Given the description of an element on the screen output the (x, y) to click on. 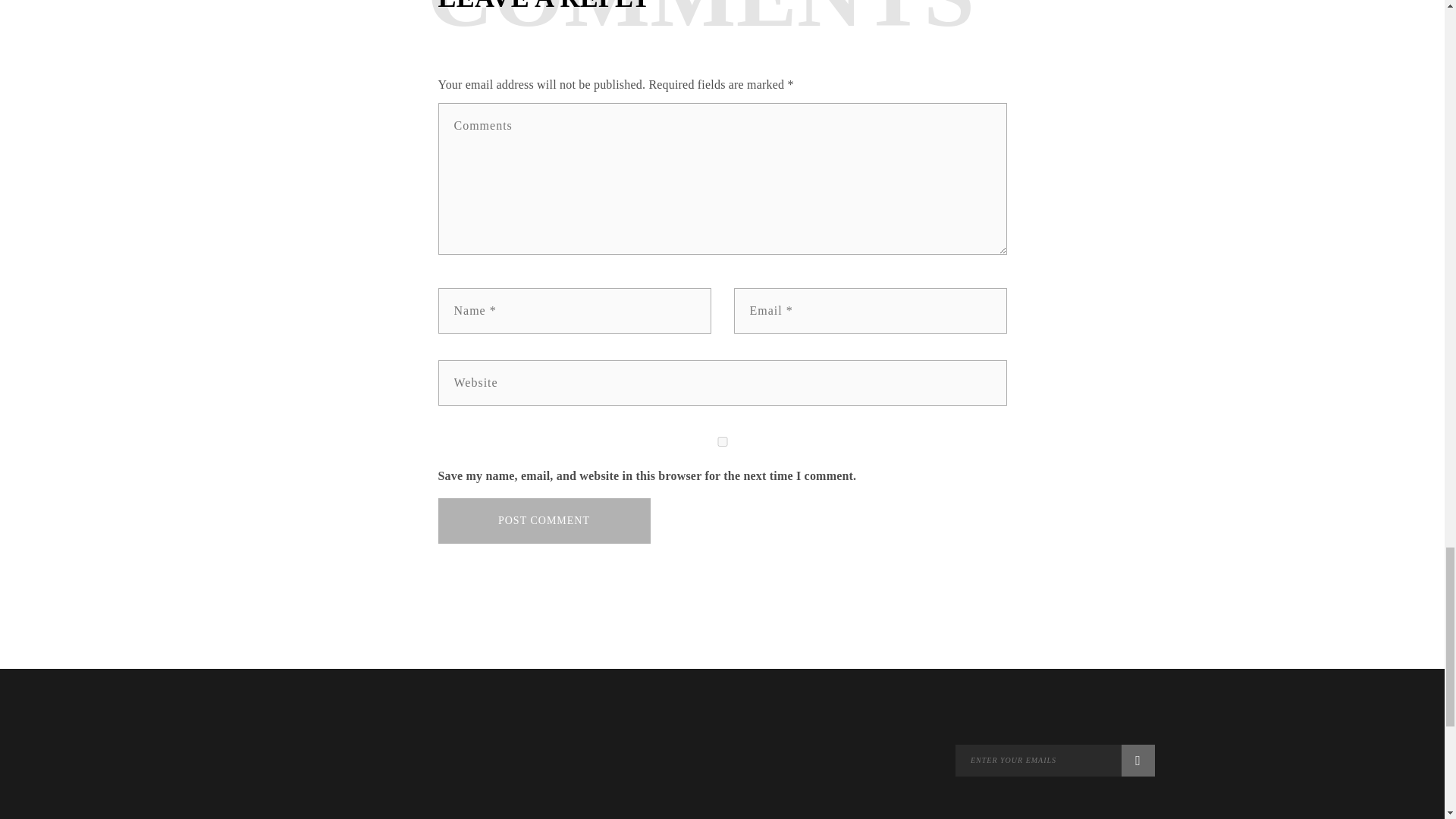
yes (722, 441)
Post Comment (544, 520)
